Given the description of an element on the screen output the (x, y) to click on. 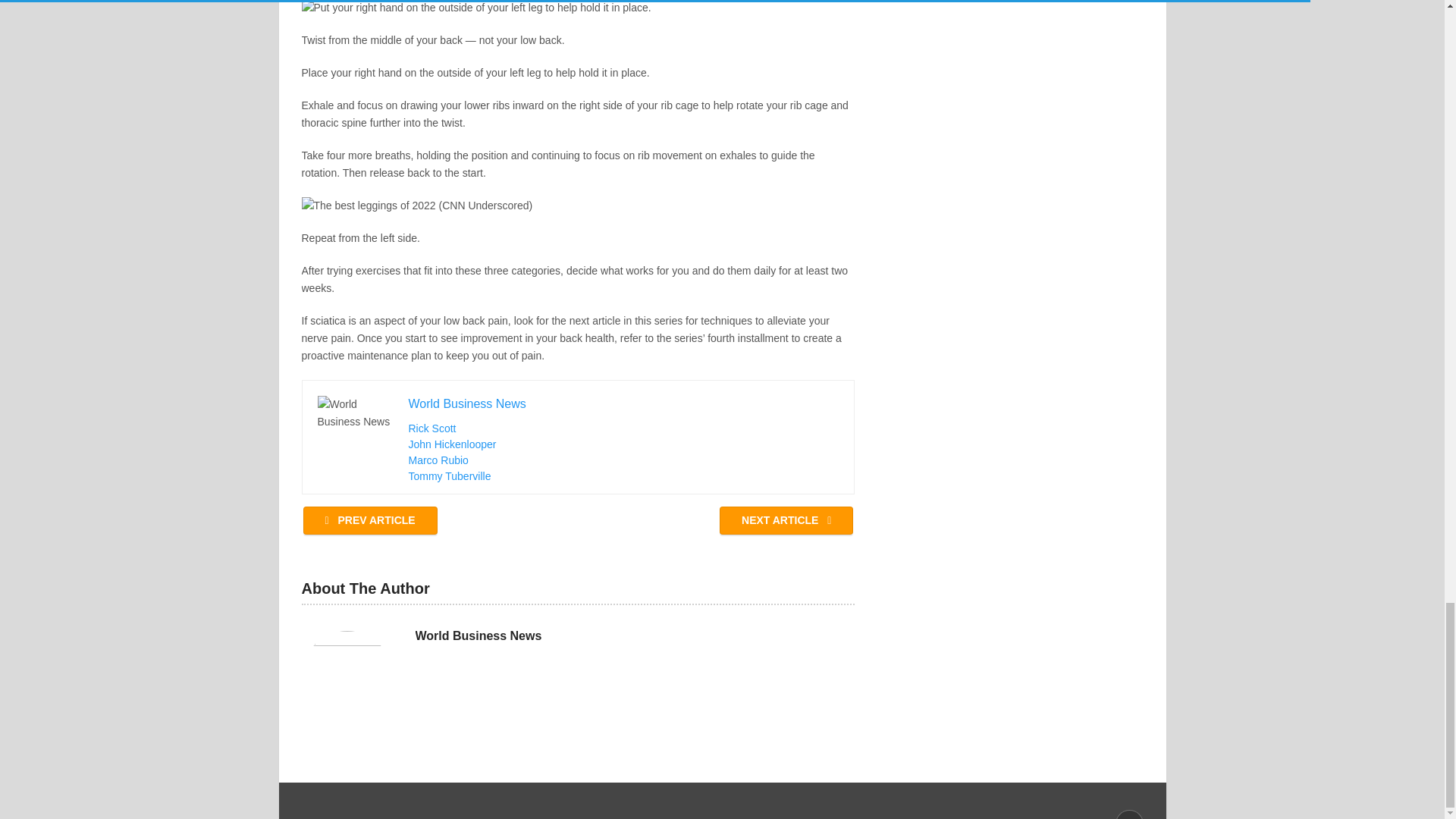
World Business News (477, 636)
John Hickenlooper (451, 444)
Rick Scott (431, 428)
PREV ARTICLE (370, 520)
Tommy Tuberville (448, 476)
Marco Rubio (437, 460)
NEXT ARTICLE (786, 520)
